Given the description of an element on the screen output the (x, y) to click on. 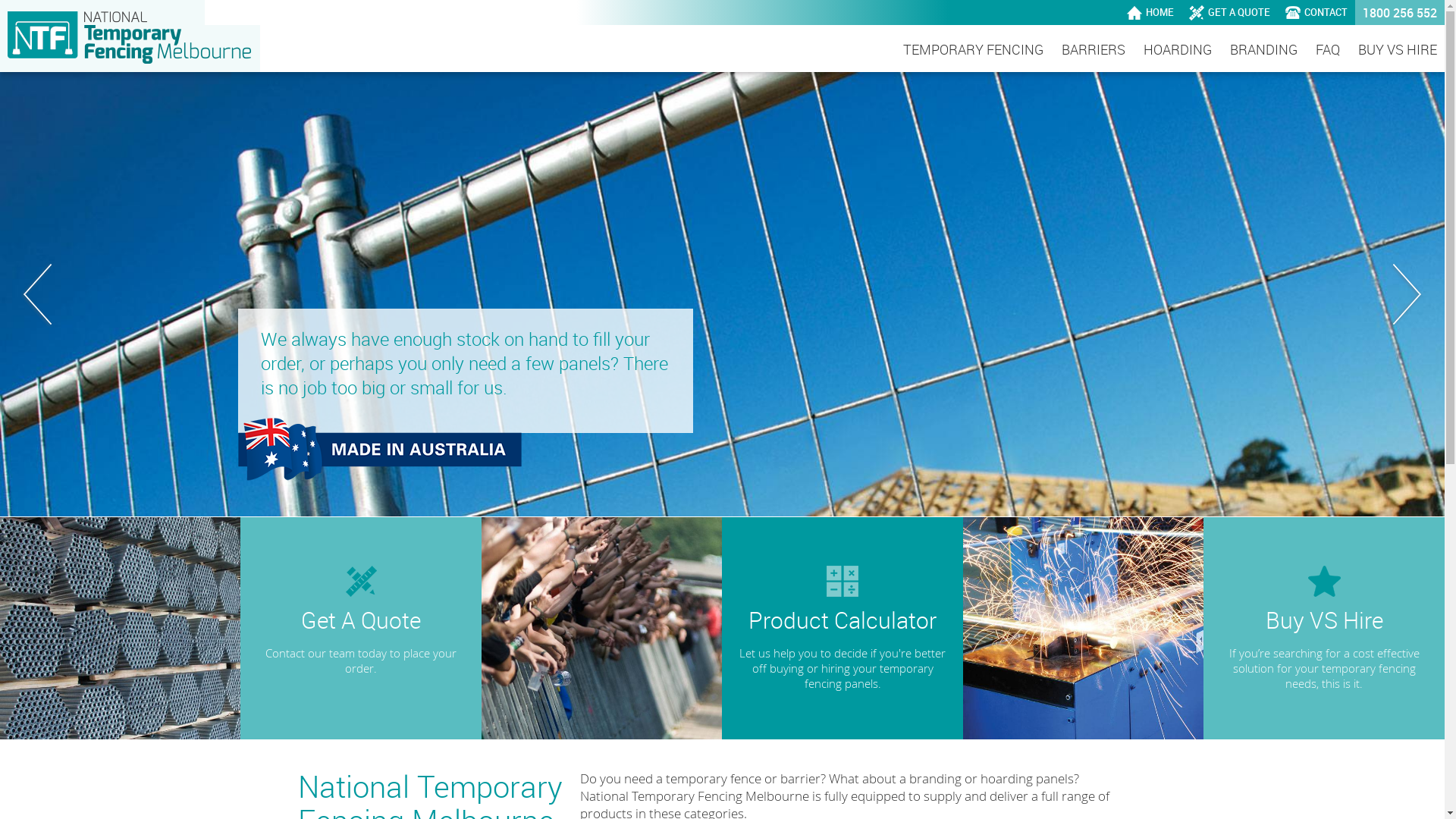
Get A Quote
Contact our team today to place your order. Element type: text (240, 627)
BRANDING Element type: text (1263, 50)
Previous Slide Element type: text (37, 294)
FAQ Element type: text (1327, 50)
CONTACT Element type: text (1316, 12)
1800 256 552 Element type: text (1399, 12)
BUY VS HIRE Element type: text (1397, 50)
Next Slide Element type: text (1406, 294)
GET A QUOTE Element type: text (1229, 12)
HOME Element type: text (1150, 12)
HOARDING Element type: text (1177, 50)
BARRIERS Element type: text (1093, 50)
TEMPORARY FENCING Element type: text (973, 50)
